Given the description of an element on the screen output the (x, y) to click on. 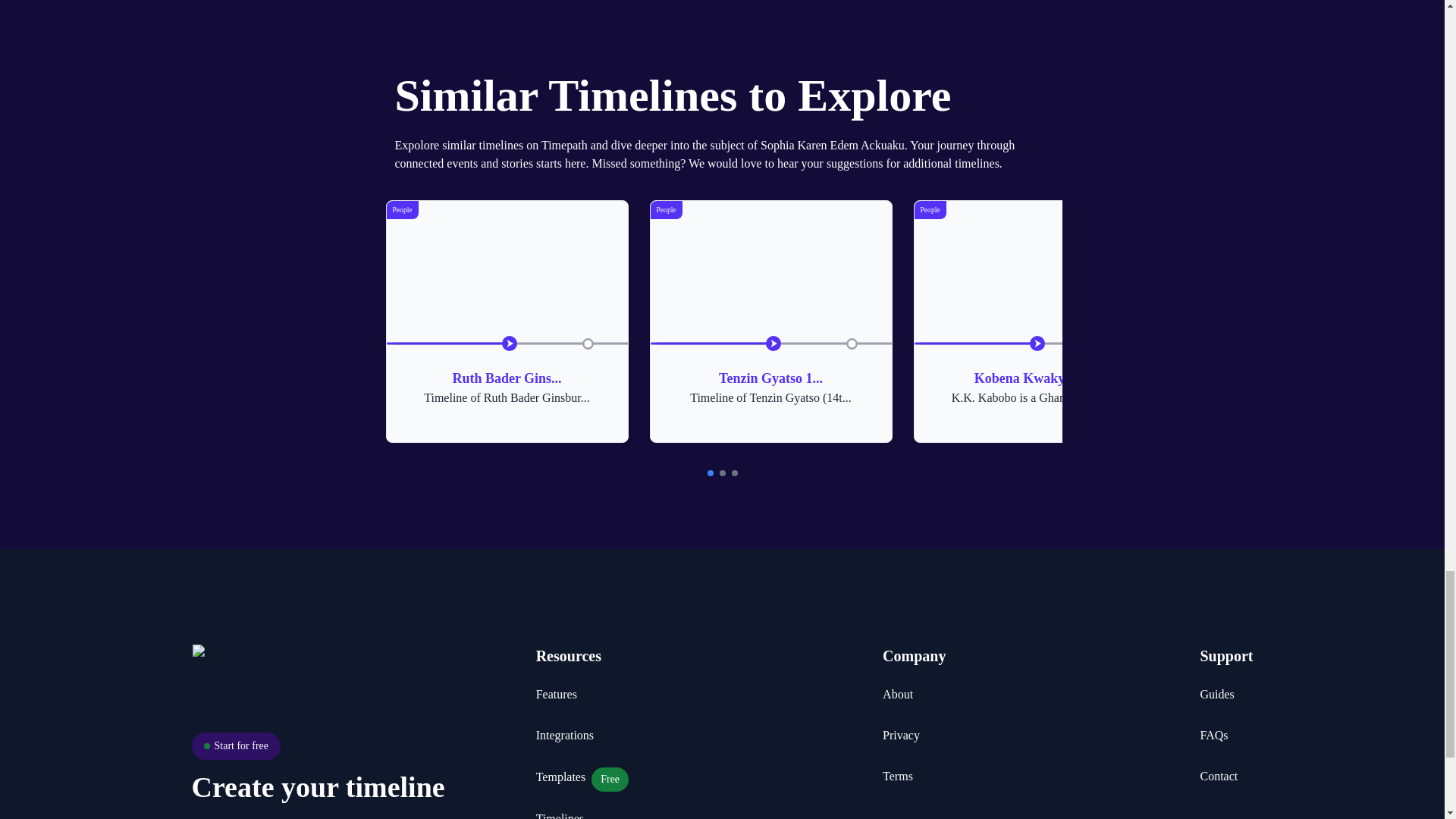
Support (1035, 321)
FAQs (507, 321)
Timelines (1225, 655)
Features (1213, 735)
Templates (559, 814)
About (555, 694)
Integrations (560, 777)
Contact (897, 694)
Privacy (564, 735)
Guides (1218, 776)
Terms (901, 735)
